Given the description of an element on the screen output the (x, y) to click on. 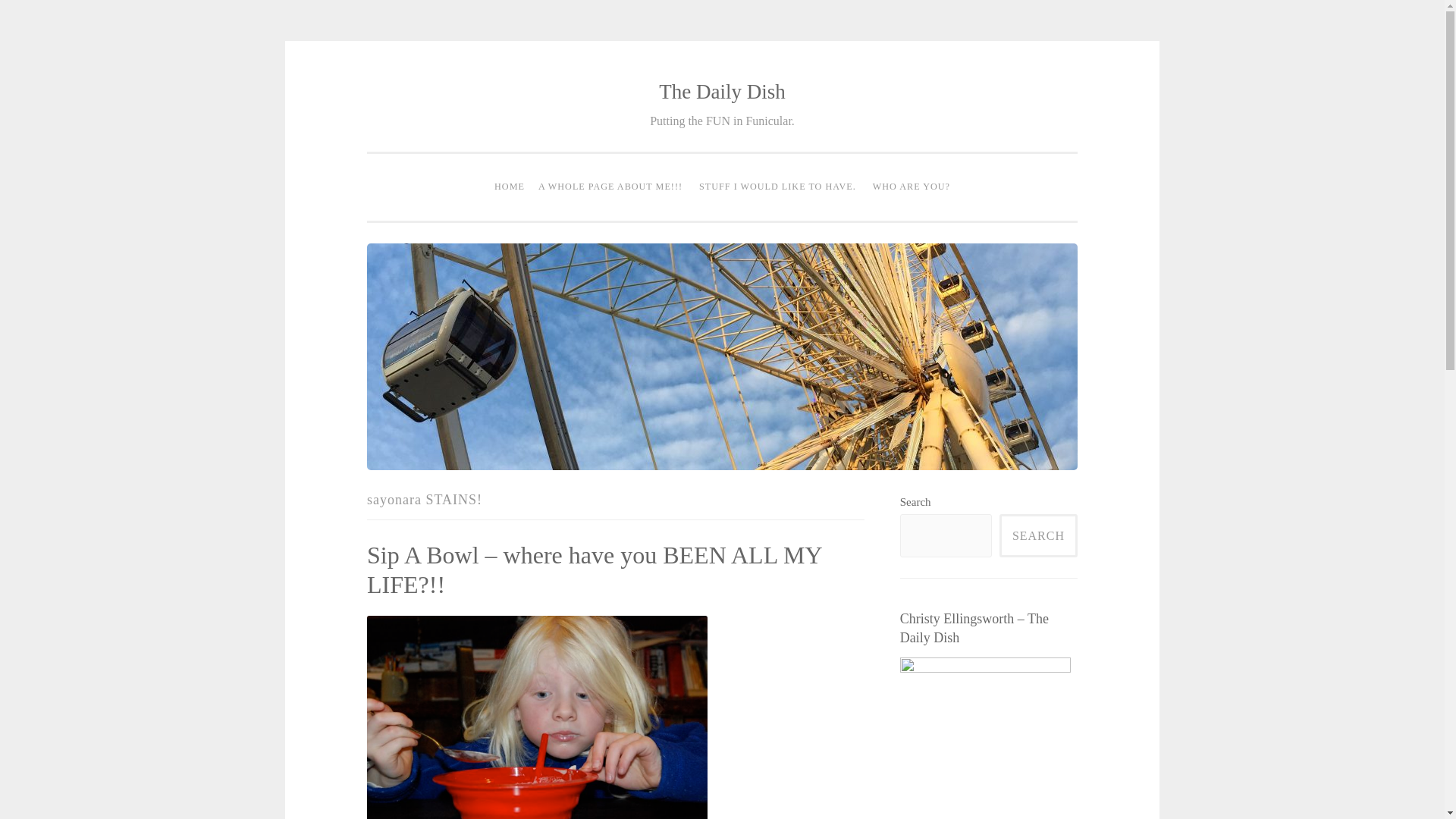
The Daily Dish (721, 91)
Christy Ellingsworth - The Daily Dish (984, 738)
WHO ARE YOU? (911, 186)
HOME (509, 186)
SEARCH (1037, 535)
A WHOLE PAGE ABOUT ME!!! (609, 186)
STUFF I WOULD LIKE TO HAVE. (778, 186)
